Given the description of an element on the screen output the (x, y) to click on. 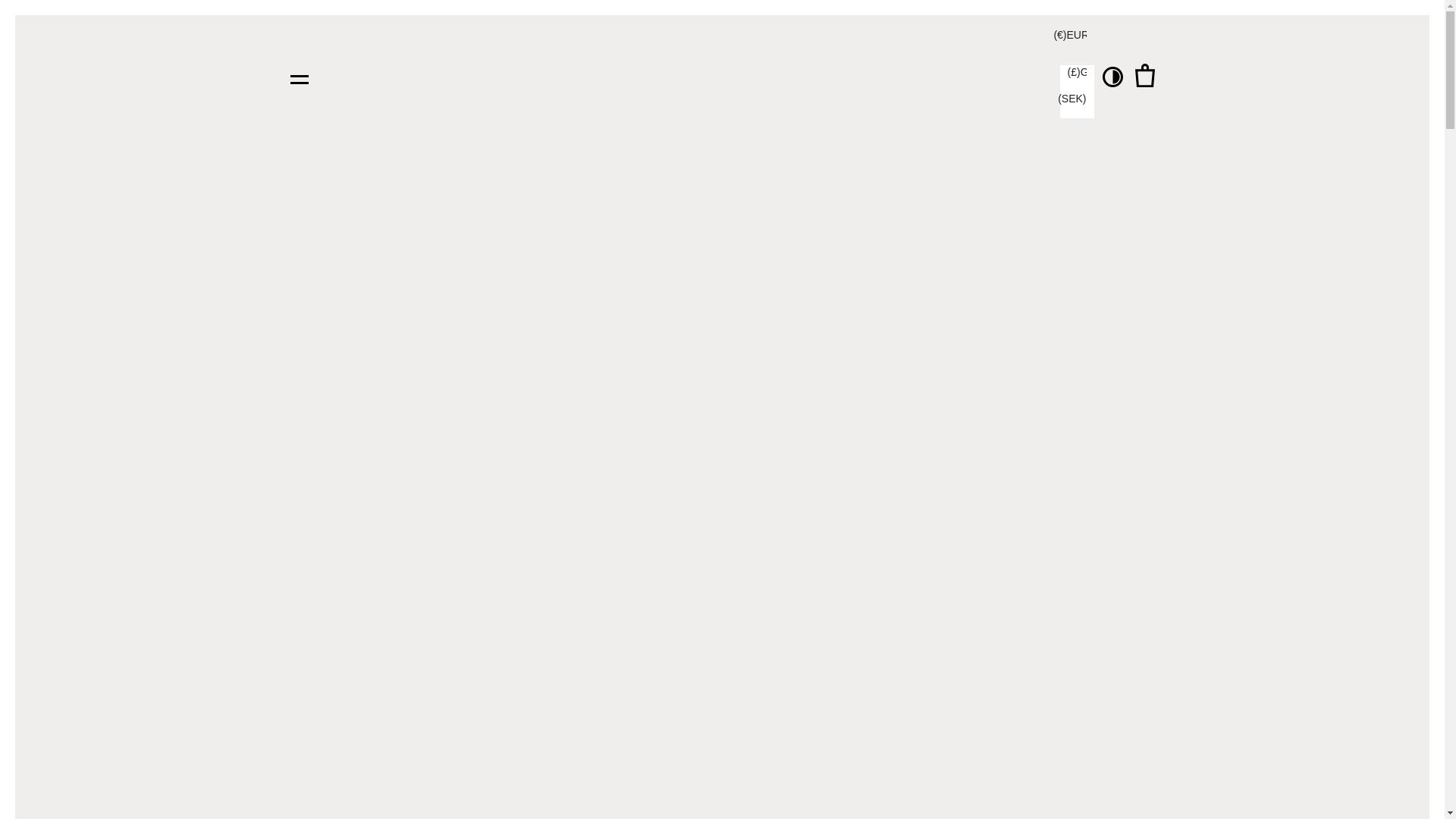
Sign-up Element type: text (944, 699)
